Given the description of an element on the screen output the (x, y) to click on. 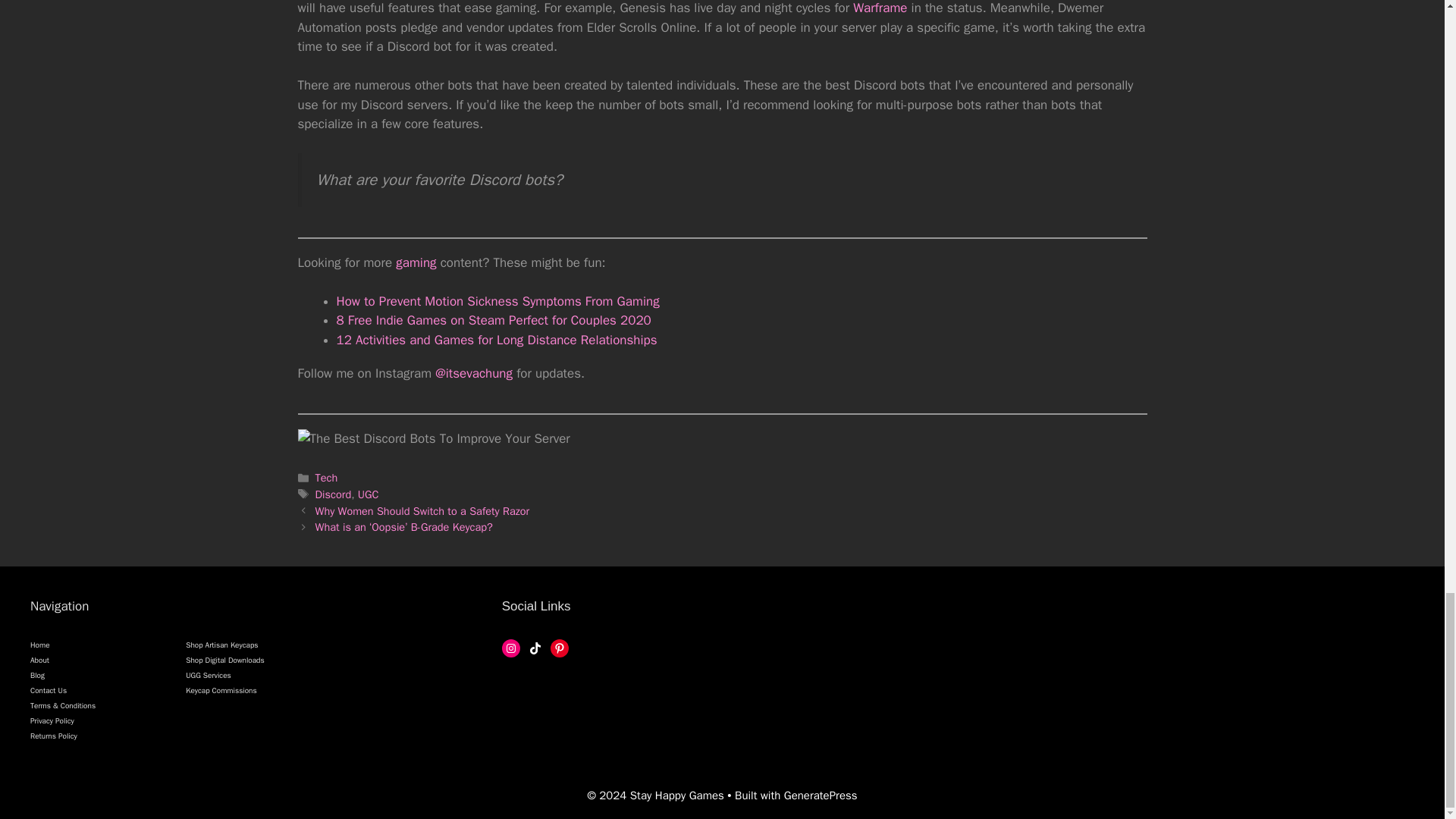
How to Prevent Motion Sickness Symptoms From Gaming (497, 301)
Discord (333, 494)
Warframe (880, 7)
12 Activities and Games for Long Distance Relationships (497, 340)
8 Free Indie Games on Steam Perfect for Couples 2020 (493, 320)
About (39, 660)
Why Women Should Switch to a Safety Razor (422, 510)
UGC (368, 494)
Tech (326, 477)
gaming (415, 262)
